Given the description of an element on the screen output the (x, y) to click on. 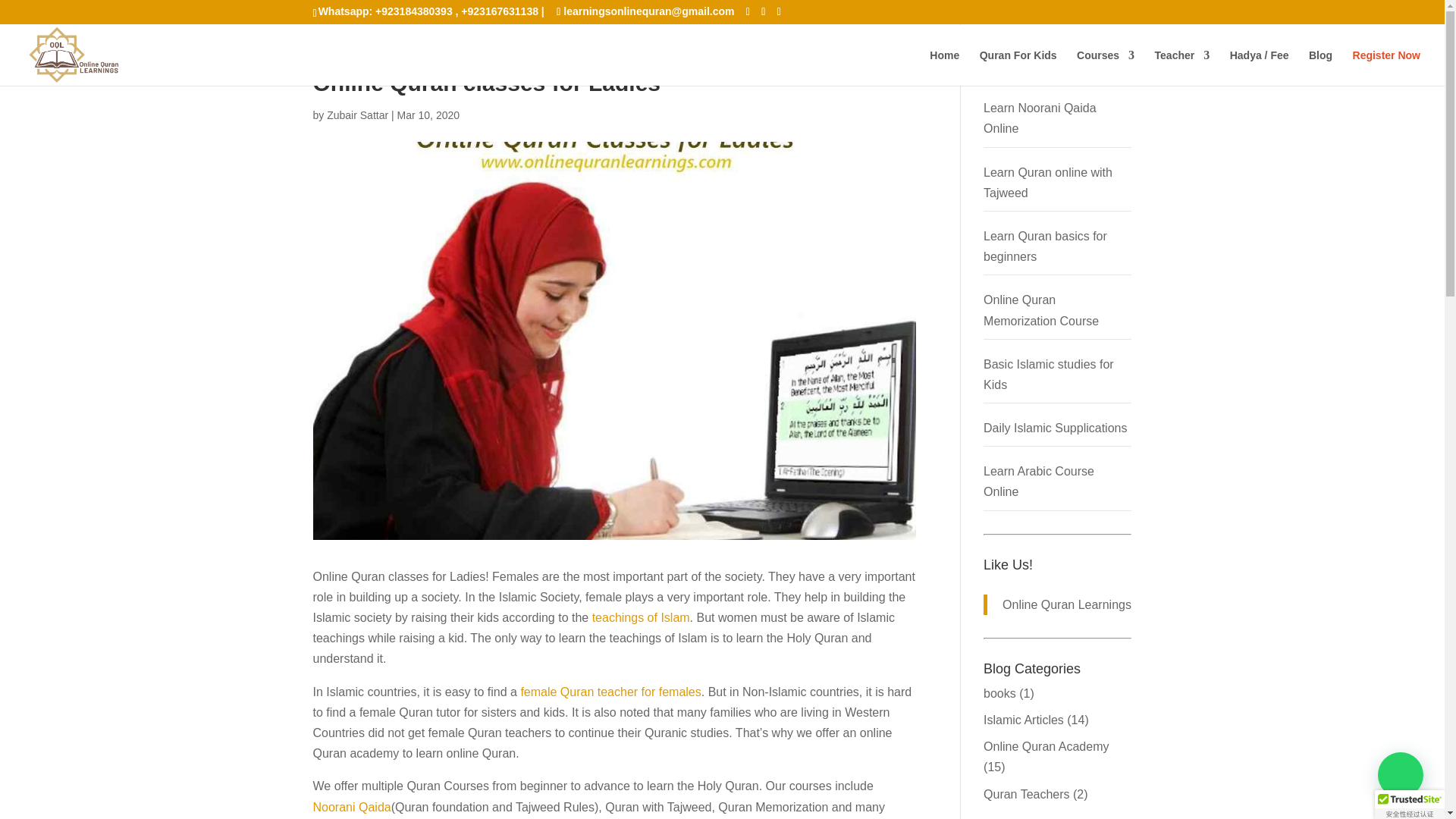
Noorani Qaida (351, 807)
Courses (1105, 67)
DMCA.com Protection Status (45, 13)
teachings of Islam (641, 617)
Quran For Kids (1018, 67)
Zubair Sattar (357, 114)
Teacher (1181, 67)
female Quran teacher for females (609, 691)
Register Now (1386, 67)
Posts by Zubair Sattar (357, 114)
